Given the description of an element on the screen output the (x, y) to click on. 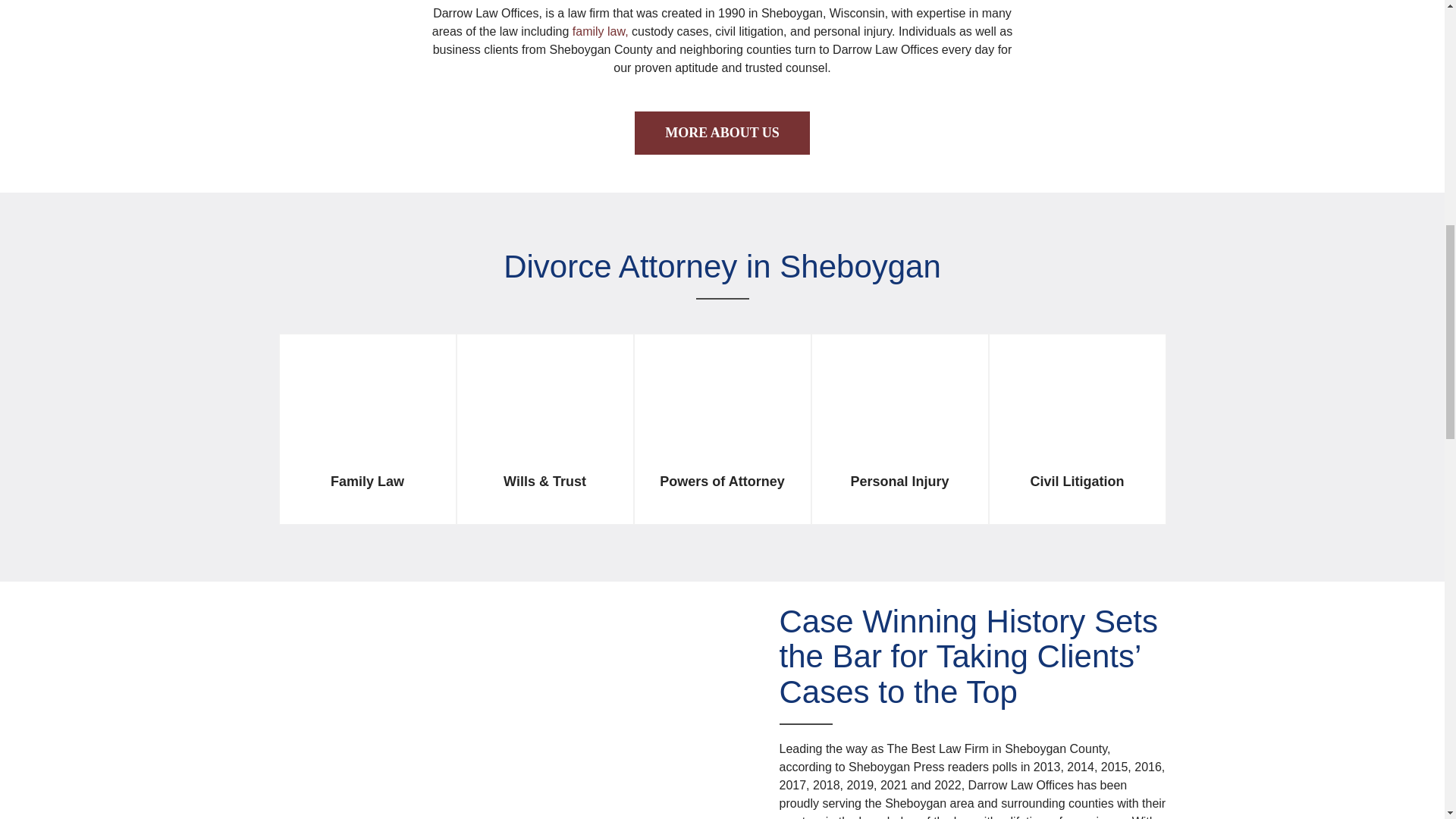
Powers of Attorney (721, 434)
Personal Injury (898, 434)
Civil Litigation (1076, 434)
Family Law (366, 434)
